Given the description of an element on the screen output the (x, y) to click on. 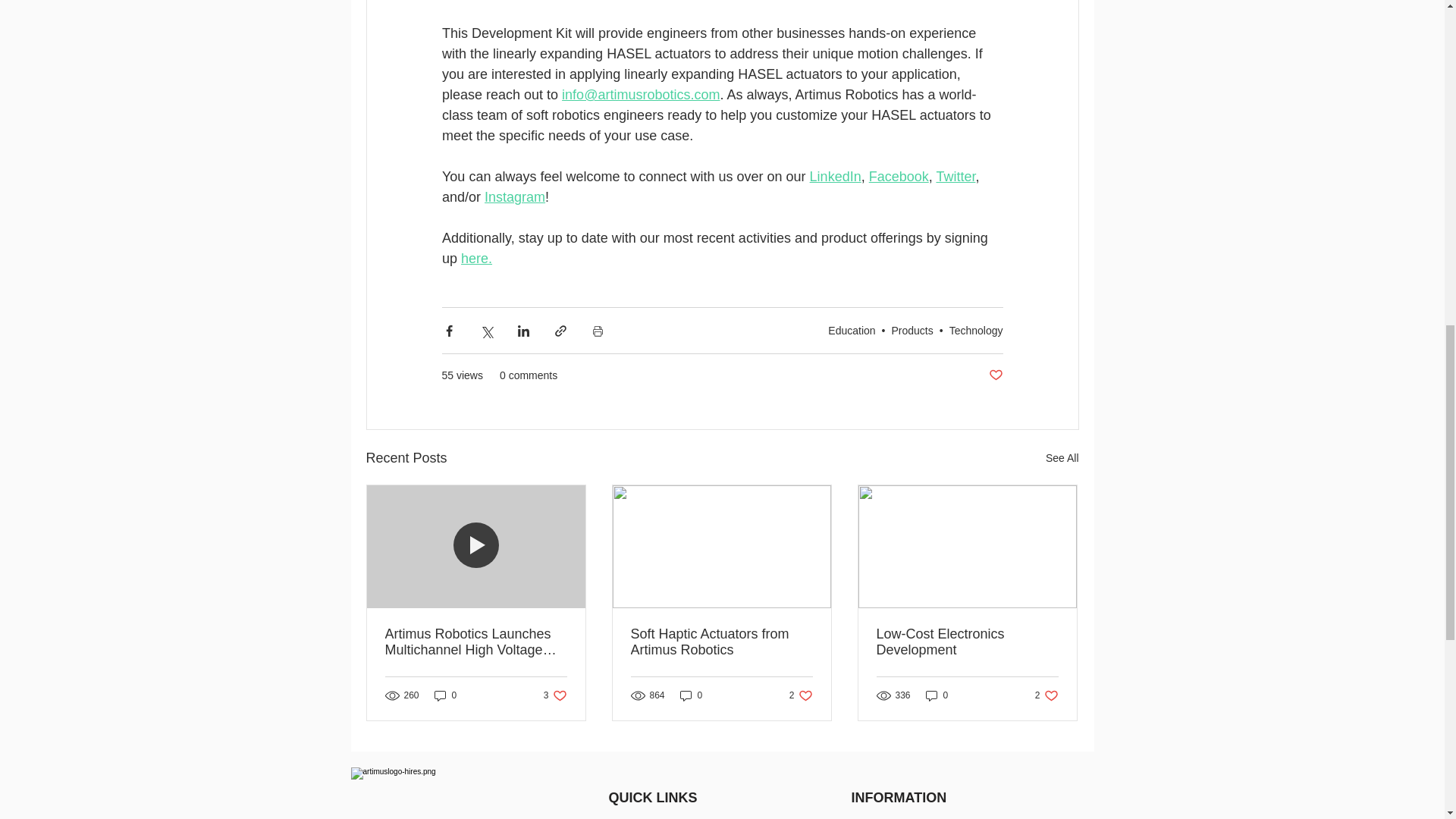
Instagram (514, 196)
Twitter (955, 176)
Facebook (897, 176)
LinkedIn (834, 176)
here. (476, 258)
logo.jpg (435, 793)
